Given the description of an element on the screen output the (x, y) to click on. 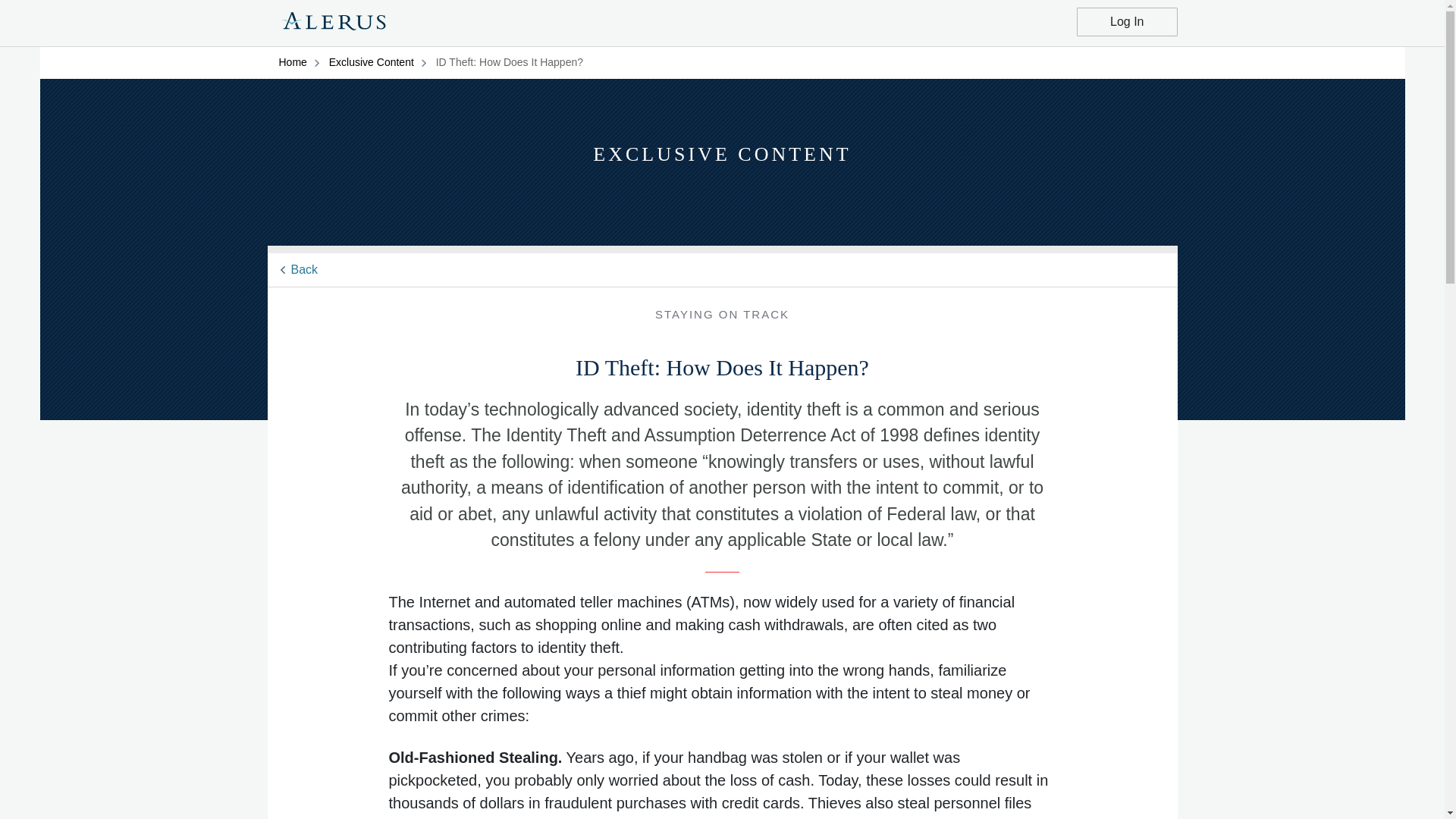
Exclusive Content (380, 62)
Home (302, 62)
Back (304, 269)
Alerus Financial Logo (333, 23)
Log In (1126, 21)
